Given the description of an element on the screen output the (x, y) to click on. 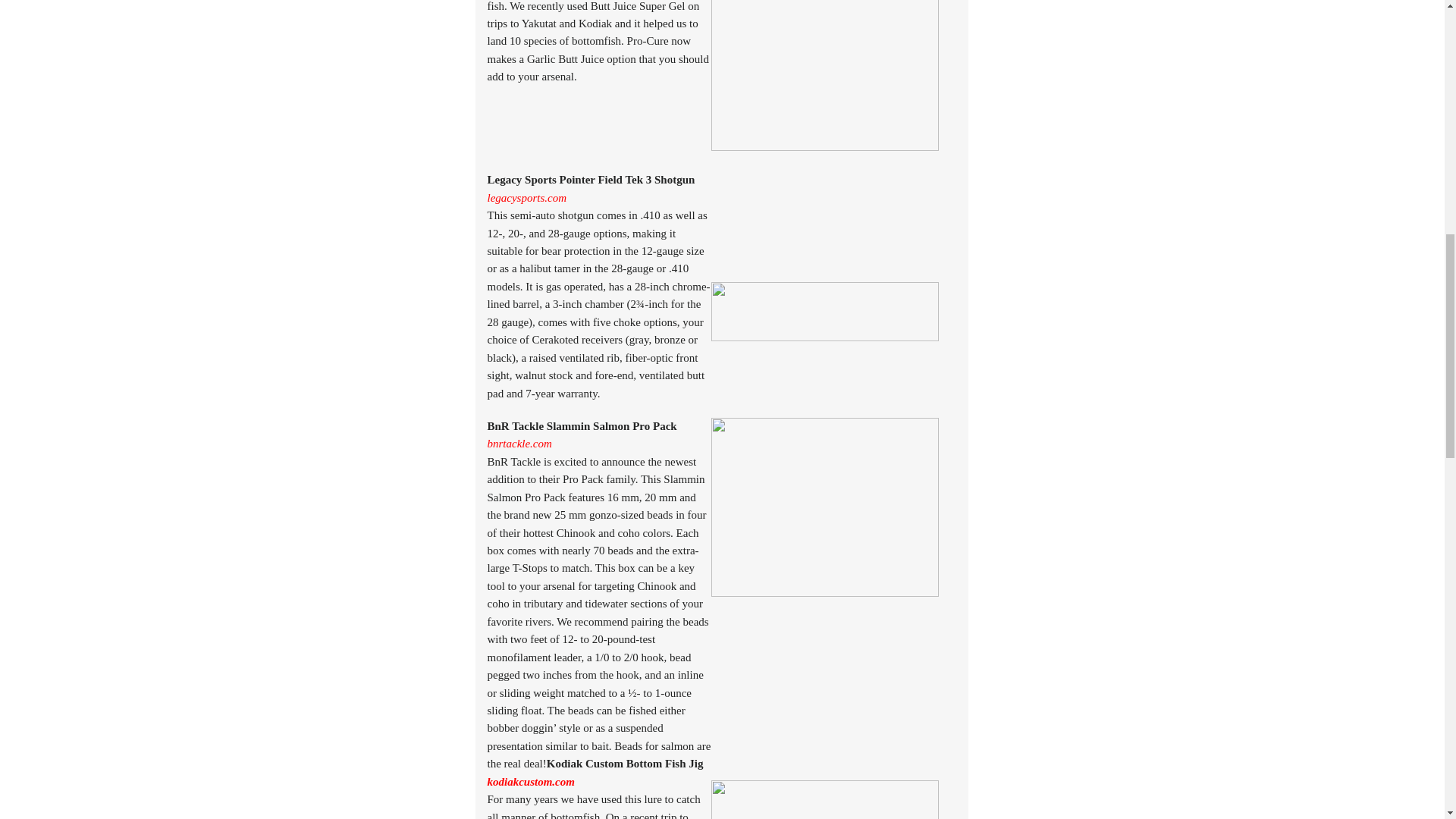
Pointer Shotgun (825, 311)
bnrtackle.com (518, 443)
Bottom Jig (825, 799)
kodiakcustom.com (529, 781)
Pro Cure Butt Juice -Gear Bag (825, 75)
legacysports.com (526, 197)
